Given the description of an element on the screen output the (x, y) to click on. 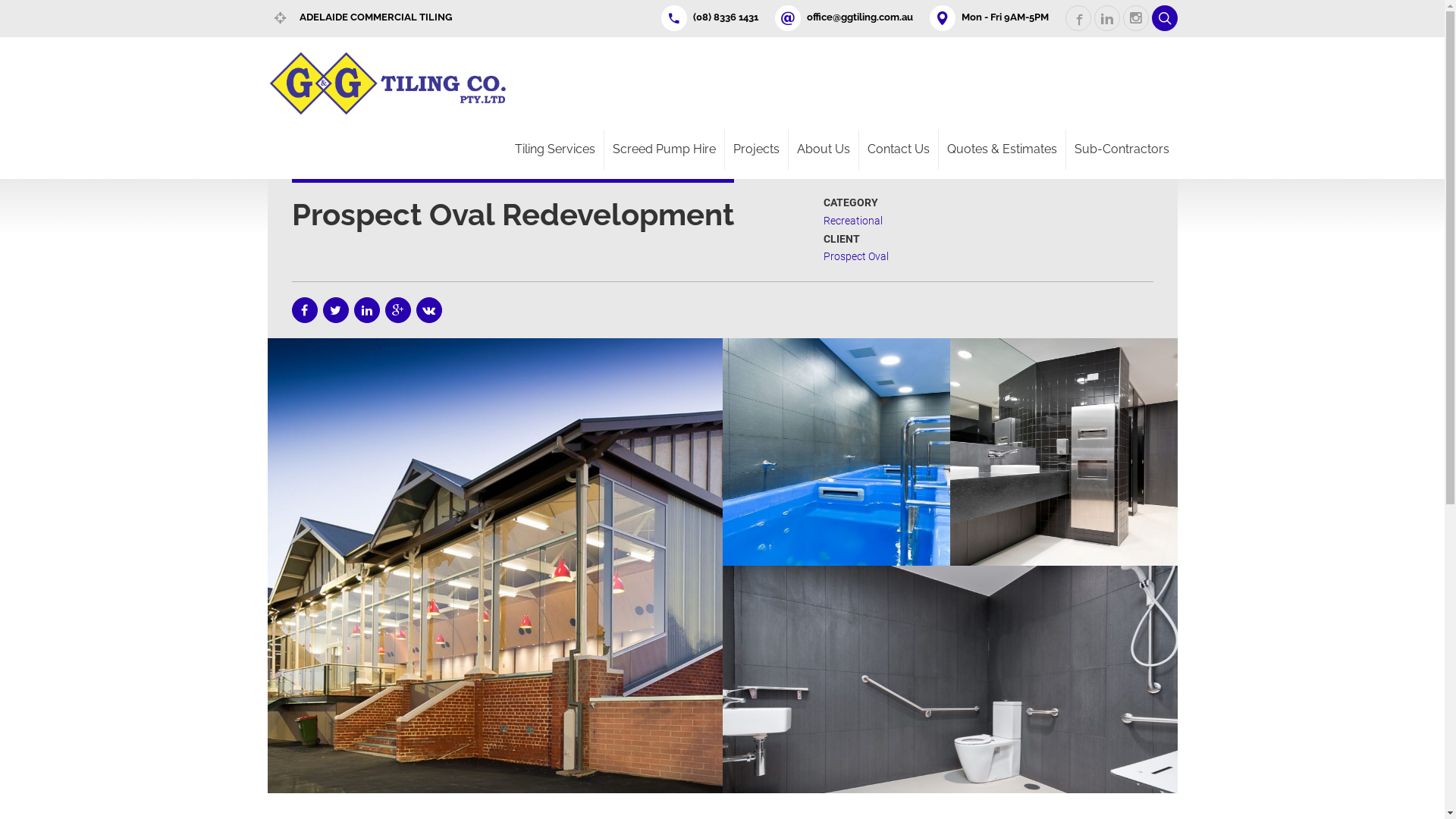
Sub-Contractors Element type: text (1121, 149)
LinkedIn Element type: hover (366, 310)
Contact Us Element type: text (897, 149)
Google Plus Element type: hover (398, 310)
Tiling Services Element type: text (554, 149)
office@ggtiling.com.au Element type: text (850, 17)
ADELAIDE COMMERCIAL TILING Element type: text (365, 17)
Projects Element type: text (755, 149)
Facebook Element type: hover (303, 310)
About Us Element type: text (823, 149)
Twitter Element type: hover (335, 310)
(08) 8336 1431 Element type: text (716, 17)
Mon - Fri 9AM-5PM Element type: text (995, 17)
Screed Pump Hire Element type: text (663, 149)
Quotes & Estimates Element type: text (1001, 149)
VK Element type: hover (428, 310)
